Given the description of an element on the screen output the (x, y) to click on. 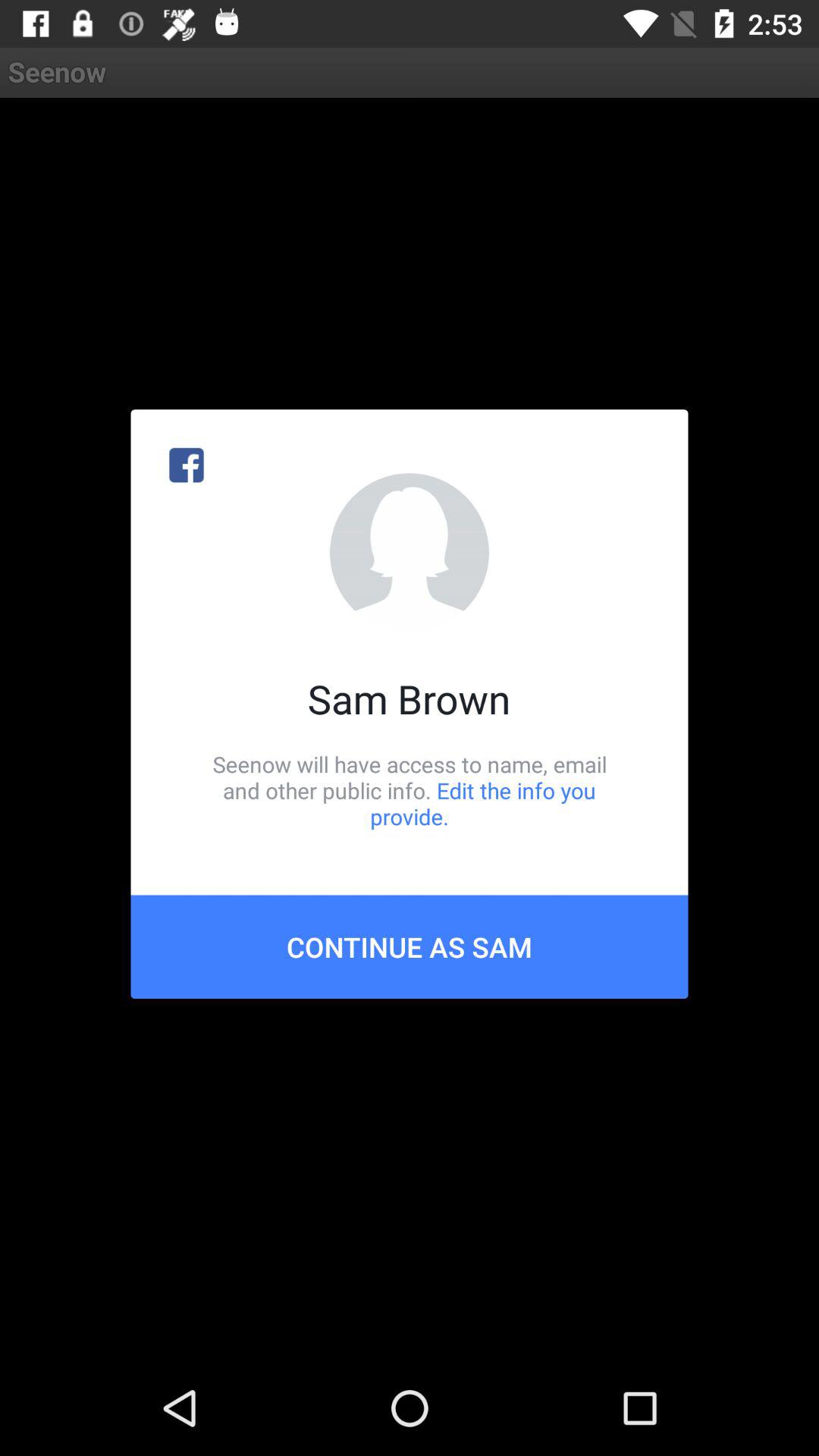
turn off seenow will have icon (409, 790)
